Given the description of an element on the screen output the (x, y) to click on. 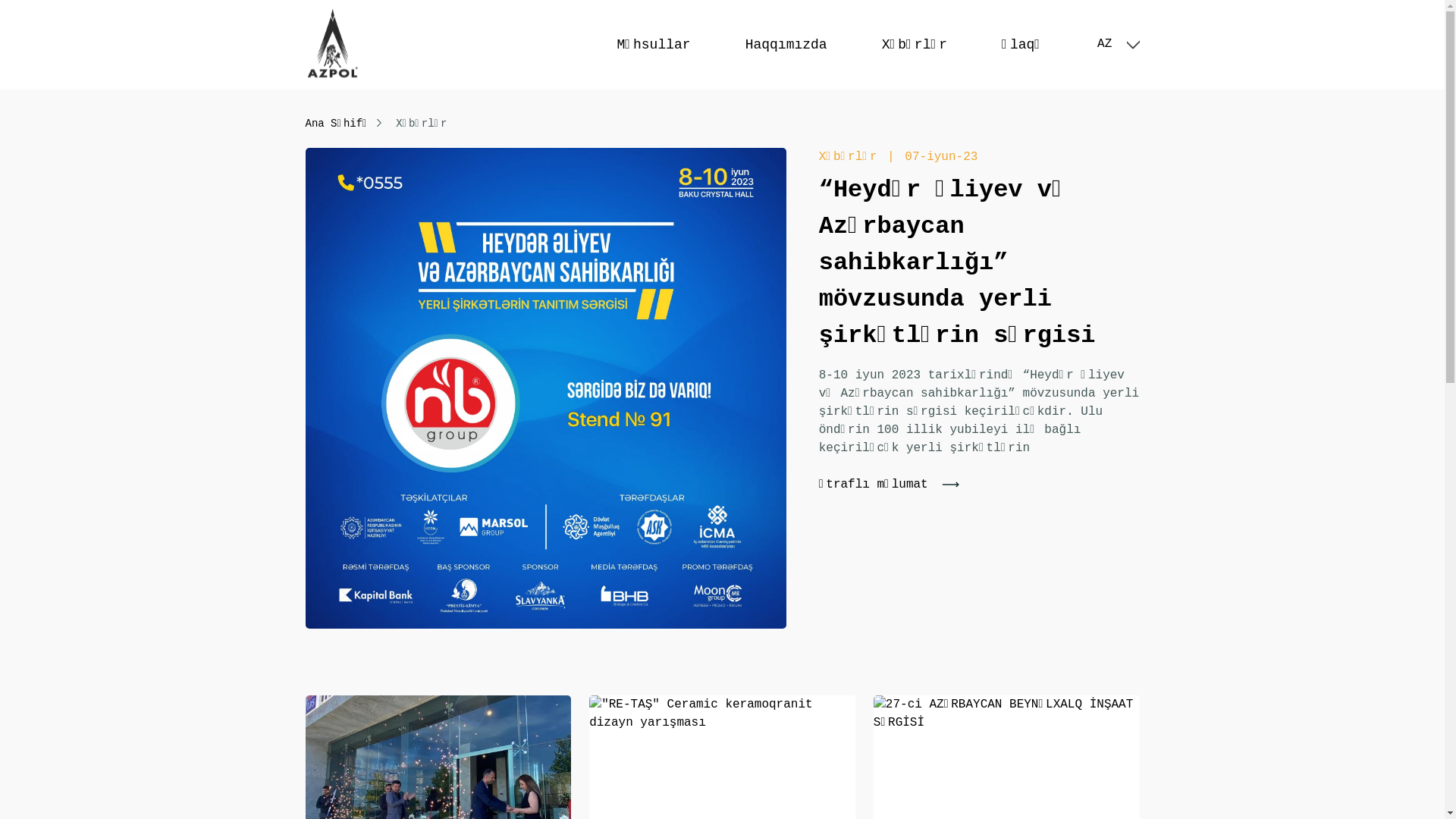
AZ   Element type: text (1118, 43)
